Given the description of an element on the screen output the (x, y) to click on. 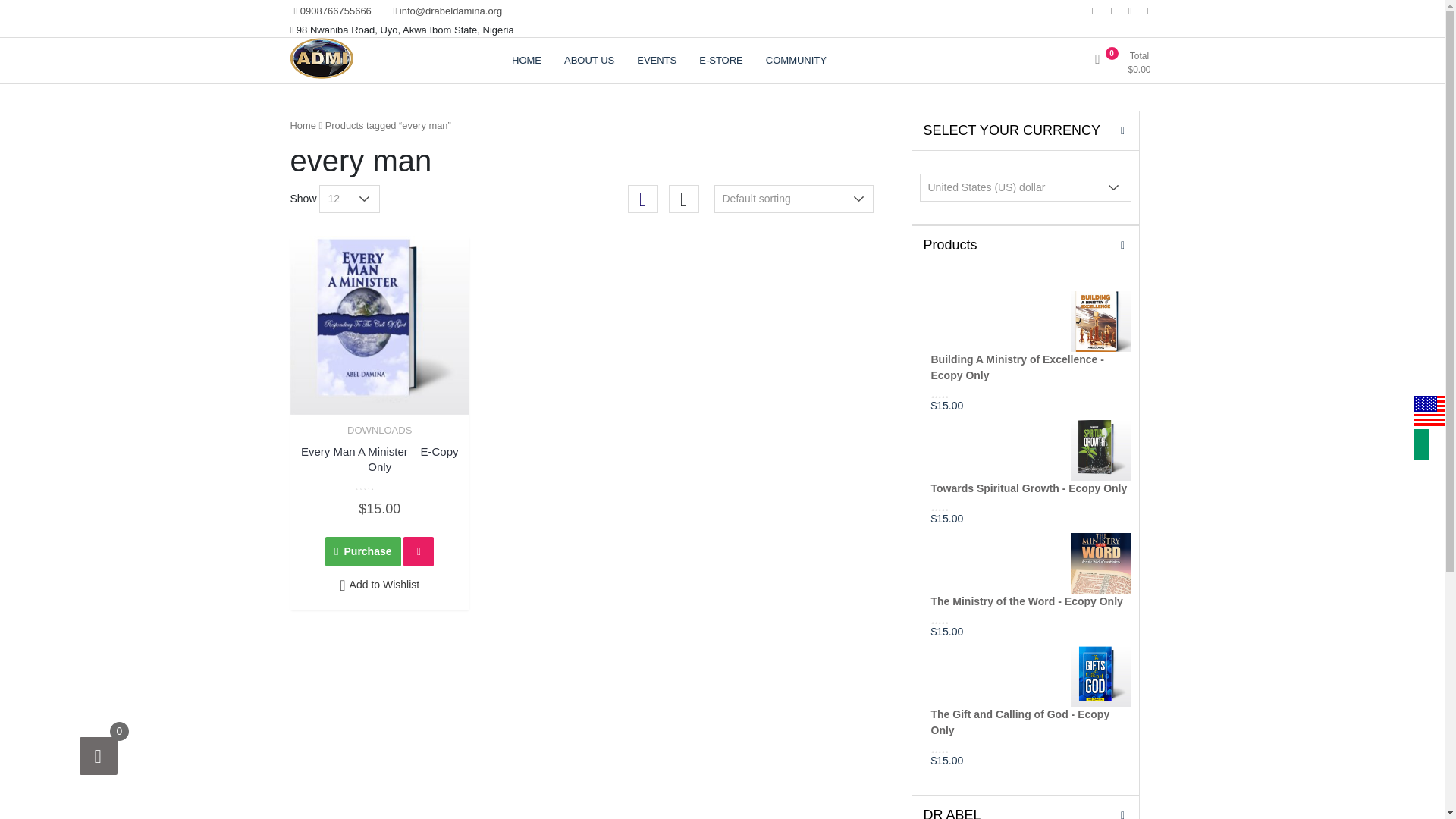
Building A Ministry of Excellence - Ecopy Only (1031, 339)
Add to Wishlist (379, 585)
No Review (959, 505)
Compare (418, 551)
No Review (959, 391)
ABOUT US (589, 60)
HOME (526, 60)
Abel Damina Ministries International (358, 130)
The Ministry of the Word - Ecopy Only (1031, 572)
DOWNLOADS (379, 430)
